Given the description of an element on the screen output the (x, y) to click on. 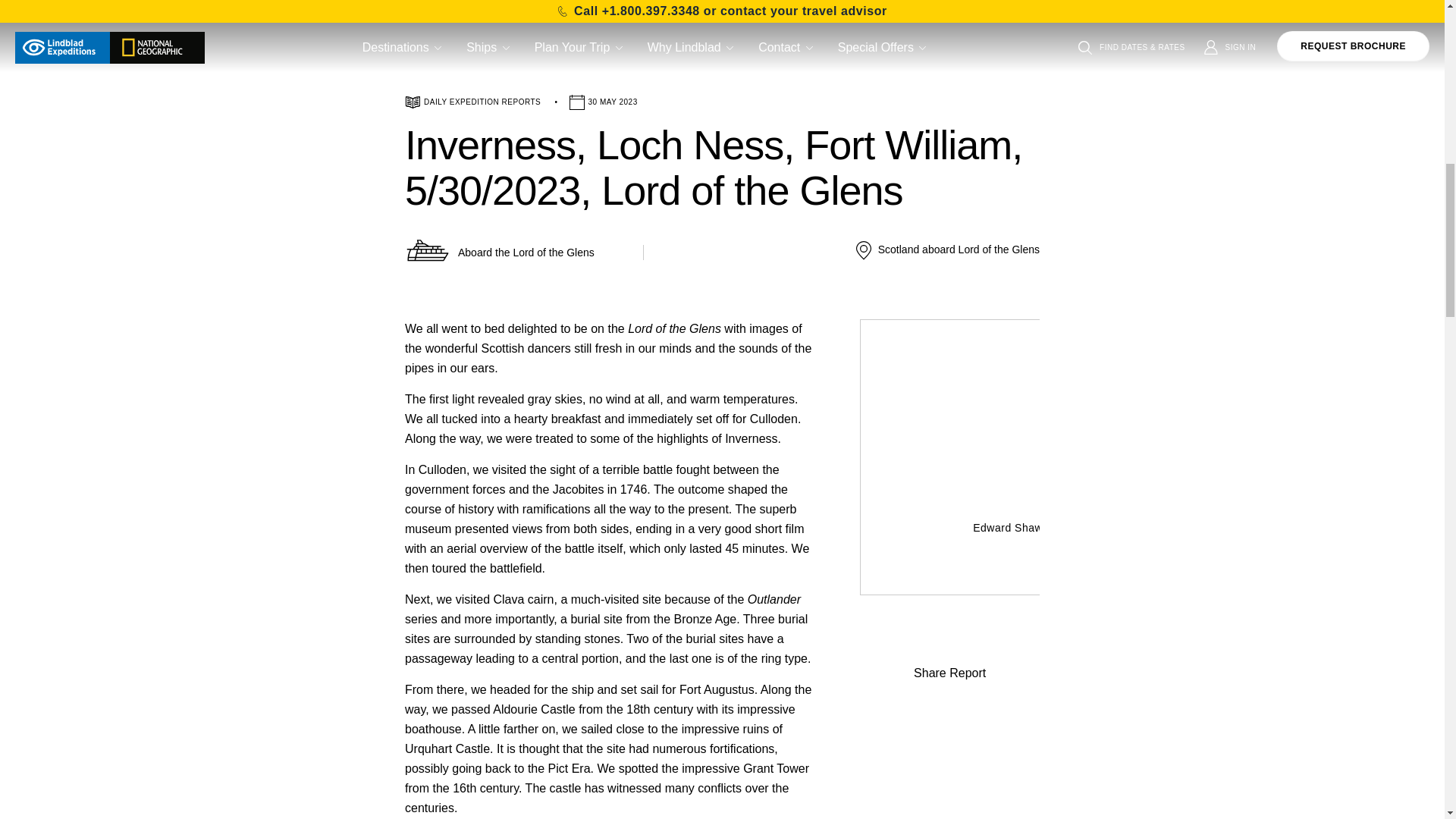
Report (949, 651)
